Given the description of an element on the screen output the (x, y) to click on. 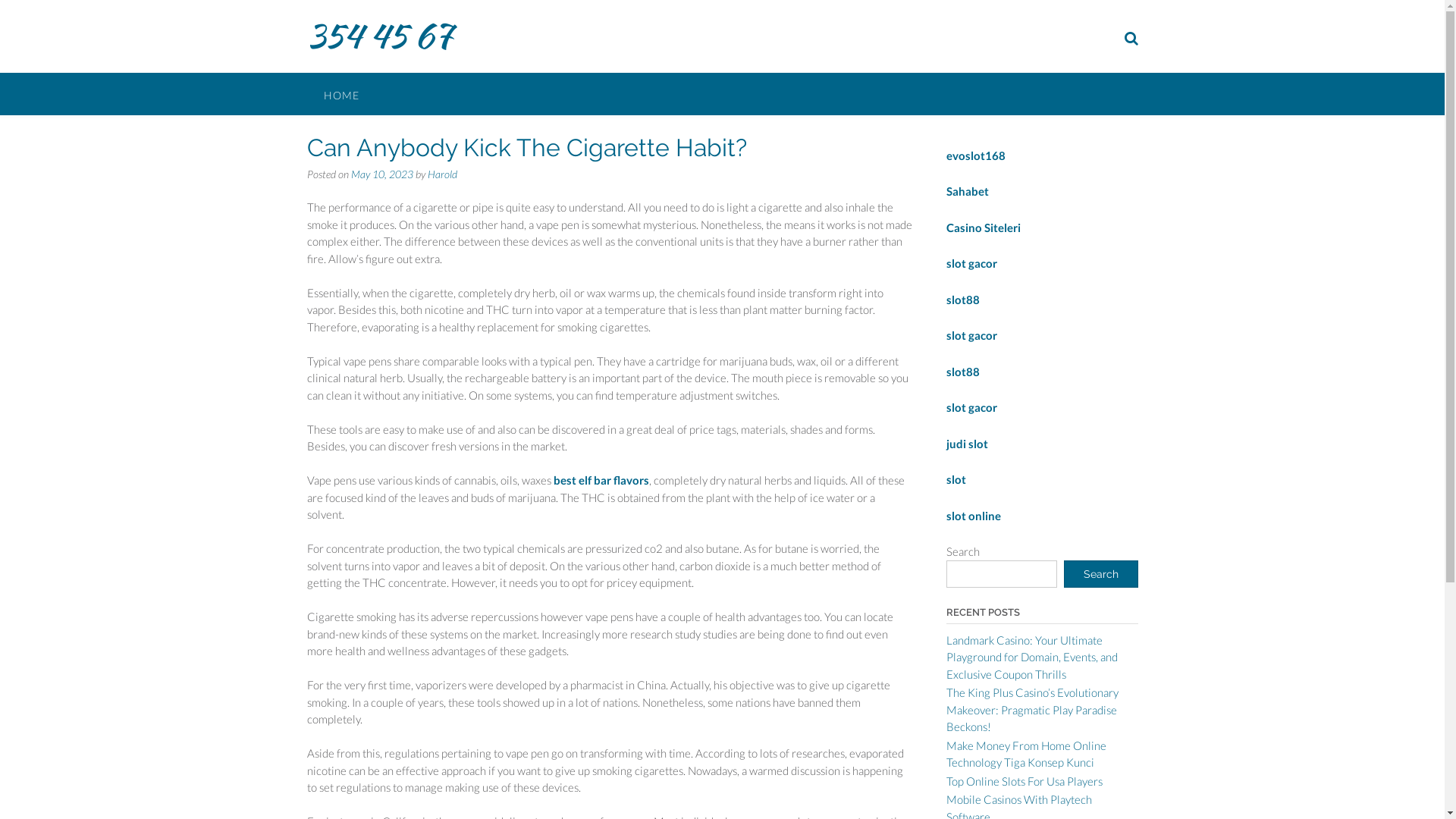
Casino Siteleri Element type: text (983, 226)
best elf bar flavors Element type: text (601, 479)
HOME Element type: text (340, 93)
May 10, 2023 Element type: text (381, 172)
Make Money From Home Online Technology Tiga Konsep Kunci Element type: text (1026, 753)
Top Online Slots For Usa Players Element type: text (1024, 780)
slot88 Element type: text (962, 299)
slot gacor Element type: text (971, 335)
judi slot Element type: text (967, 443)
Harold Element type: text (442, 172)
evoslot168 Element type: text (975, 155)
slot gacor Element type: text (971, 262)
Search Element type: text (1100, 572)
354 45 67 Element type: text (378, 35)
slot Element type: text (956, 479)
slot88 Element type: text (962, 370)
slot online Element type: text (973, 514)
Sahabet Element type: text (967, 190)
slot gacor Element type: text (971, 407)
